Given the description of an element on the screen output the (x, y) to click on. 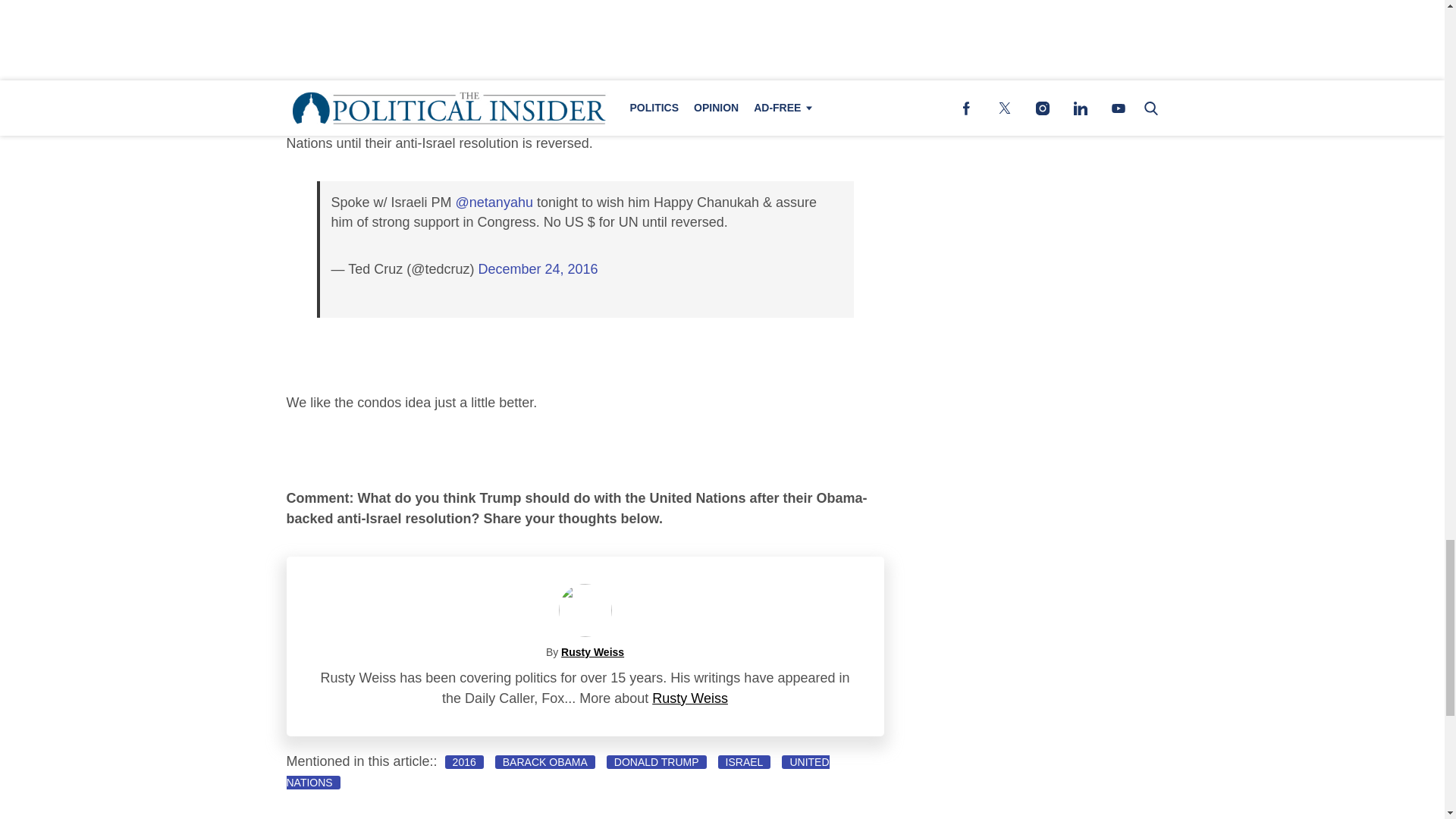
December 24, 2016 (536, 268)
Rusty Weiss (592, 652)
DONALD TRUMP (656, 762)
BARACK OBAMA (545, 762)
UNITED NATIONS (557, 772)
2016 (464, 762)
ISRAEL (744, 762)
Rusty Weiss (690, 698)
